Given the description of an element on the screen output the (x, y) to click on. 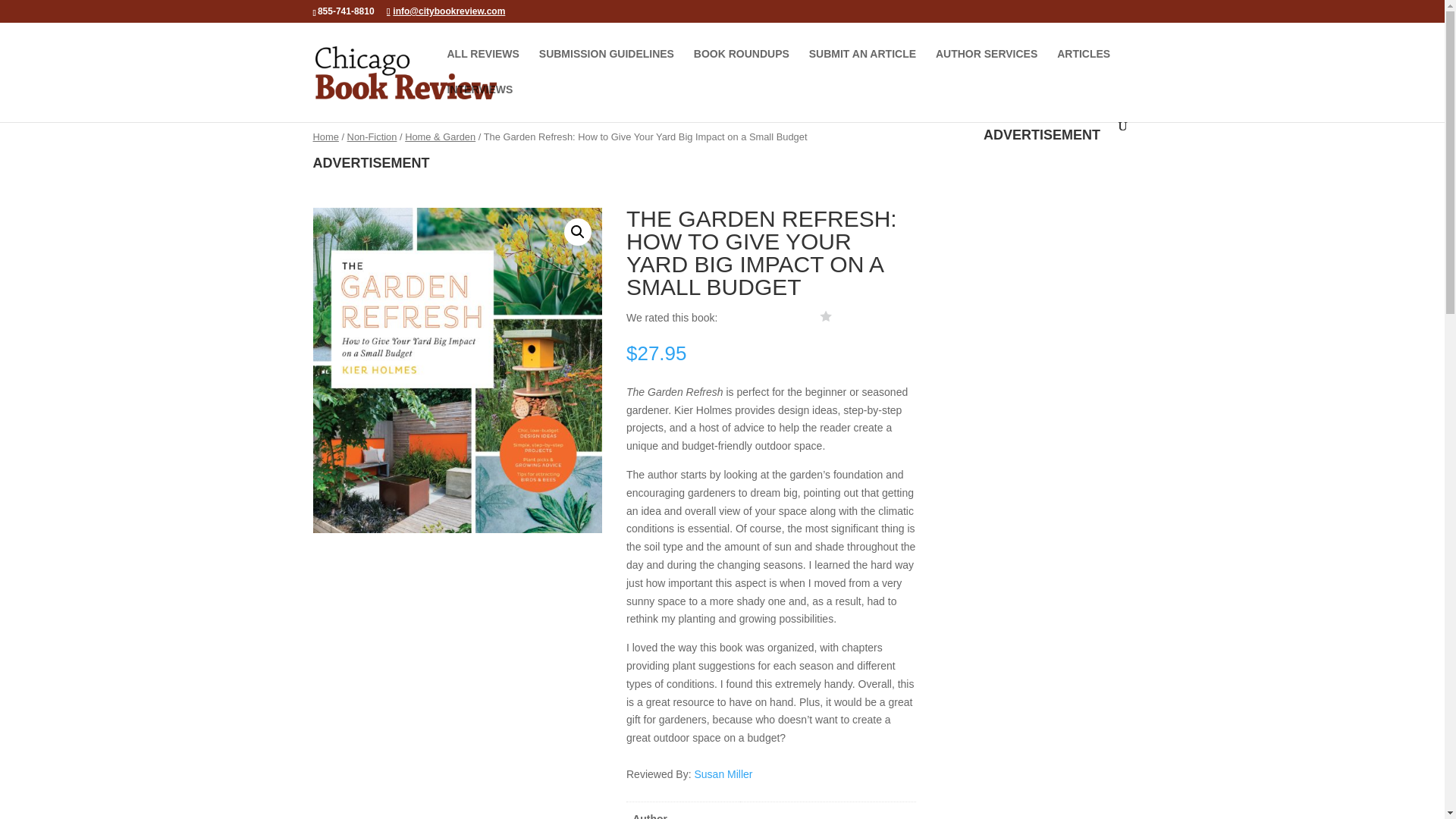
SUBMISSION GUIDELINES (606, 66)
Susan Miller (723, 774)
Non-Fiction (372, 136)
ALL REVIEWS (482, 66)
Home (325, 136)
ARTICLES (1083, 66)
SUBMIT AN ARTICLE (862, 66)
INTERVIEWS (479, 101)
BOOK ROUNDUPS (741, 66)
AUTHOR SERVICES (986, 66)
